Given the description of an element on the screen output the (x, y) to click on. 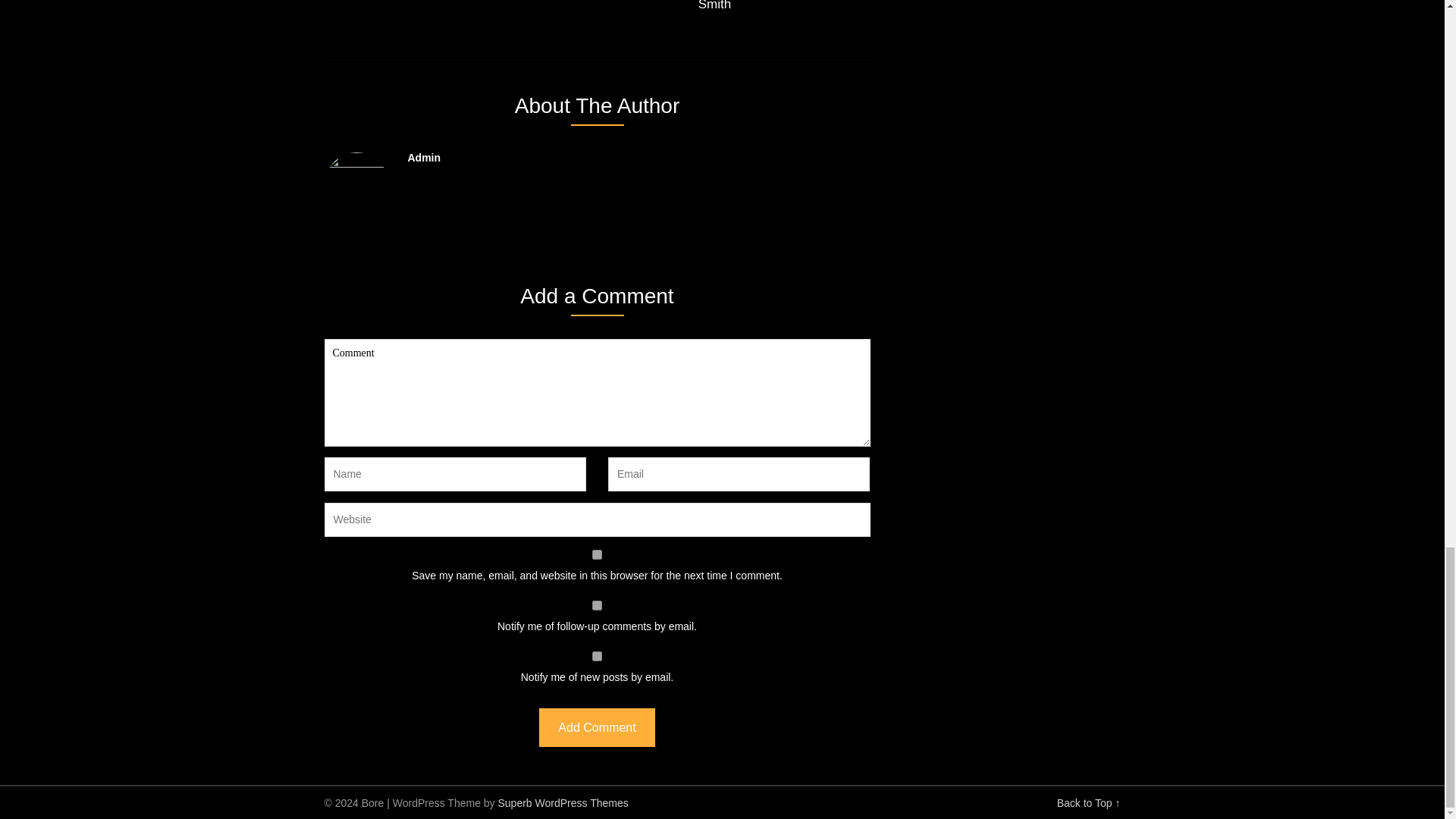
Add Comment (595, 727)
subscribe (597, 655)
yes (597, 554)
subscribe (597, 605)
